Given the description of an element on the screen output the (x, y) to click on. 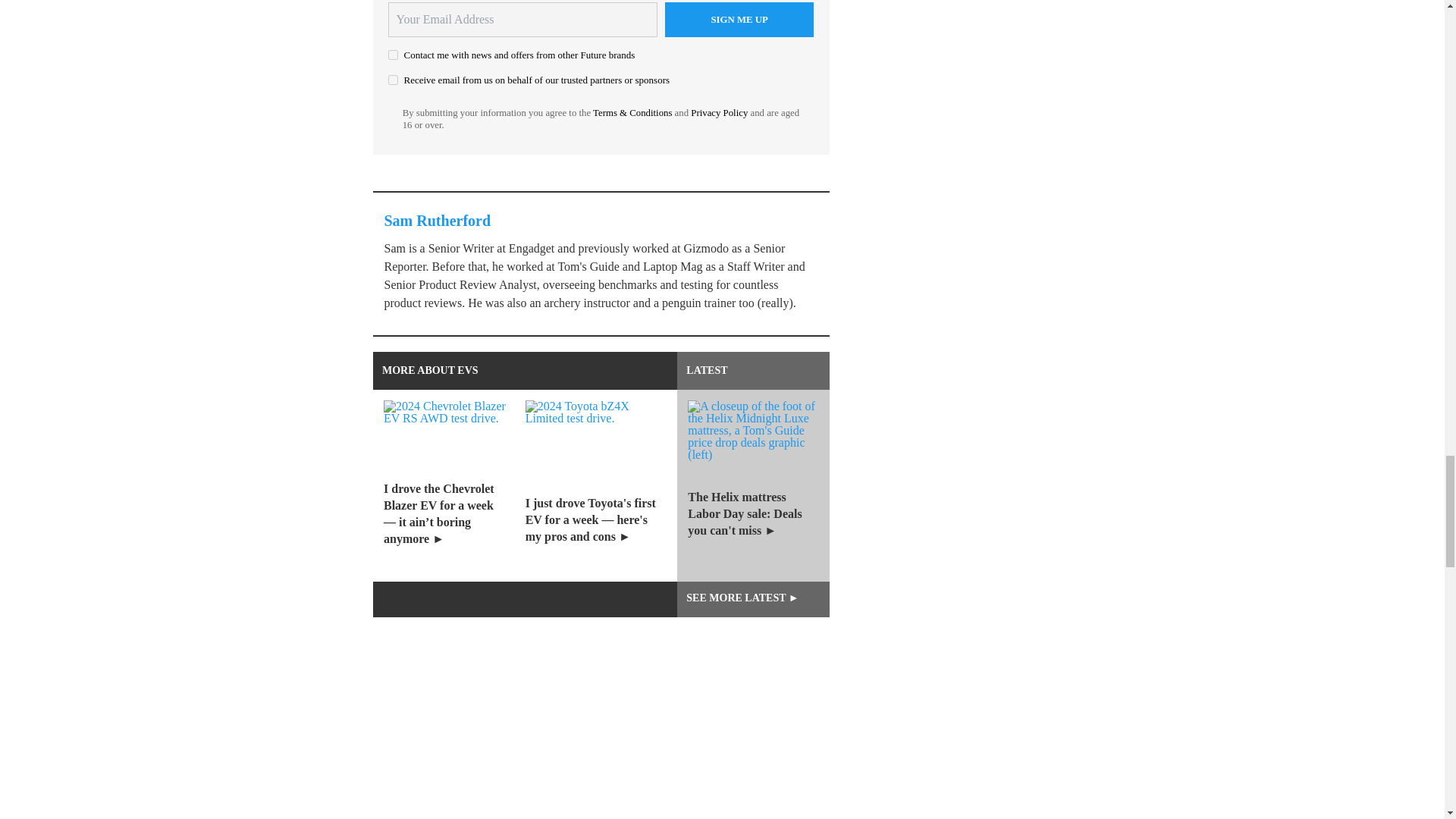
on (392, 54)
Sign me up (739, 19)
on (392, 80)
